Given the description of an element on the screen output the (x, y) to click on. 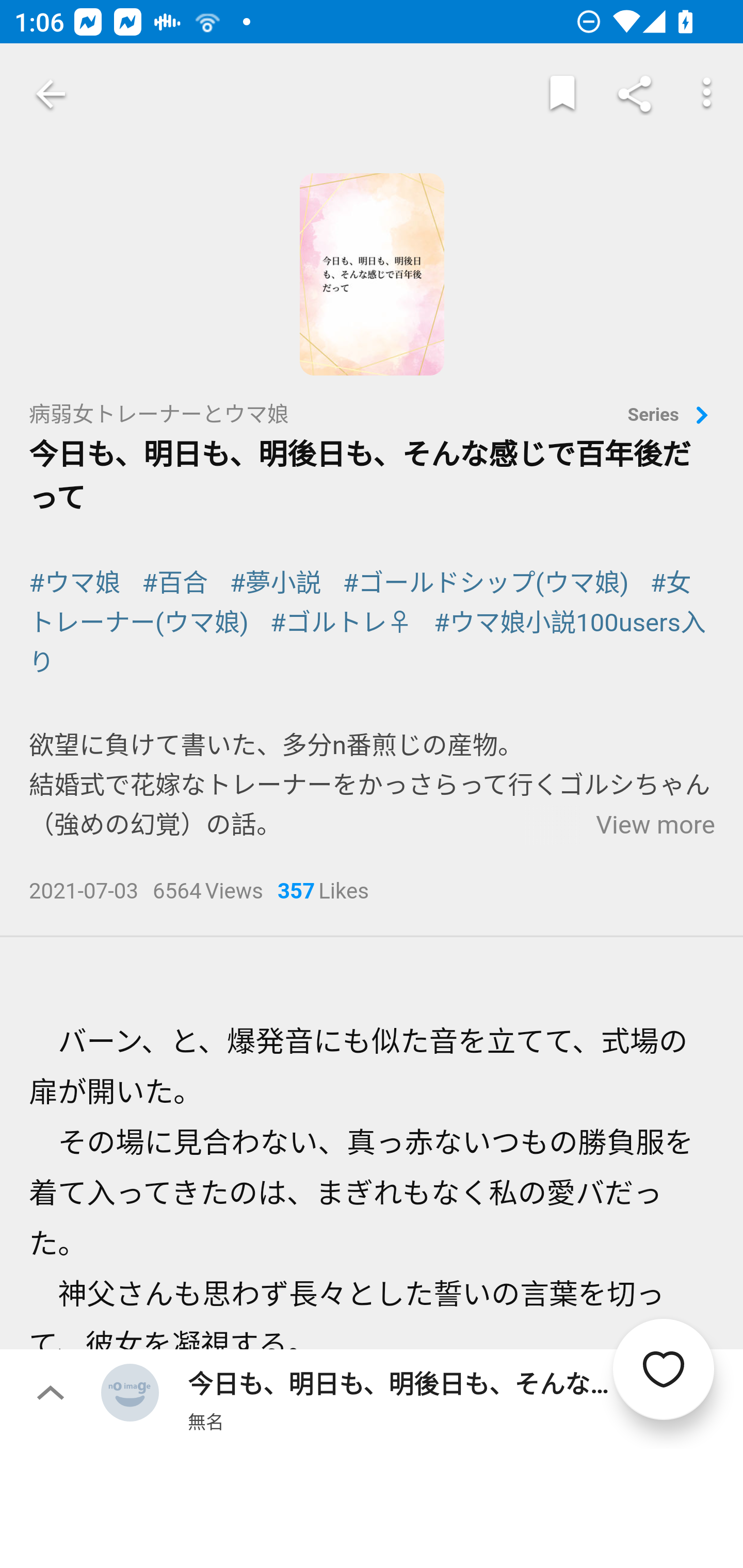
Navigate up (50, 93)
Markers (562, 93)
Share (634, 93)
More options (706, 93)
Series (671, 416)
#ウマ娘 (74, 582)
#百合 (175, 582)
#夢小説 (275, 582)
#ゴールドシップ(ウマ娘) (485, 582)
#ウマ娘小説100users入り (366, 642)
#ゴルトレ♀ (340, 622)
View more (654, 825)
357Likes (323, 892)
無名 (205, 1421)
